Given the description of an element on the screen output the (x, y) to click on. 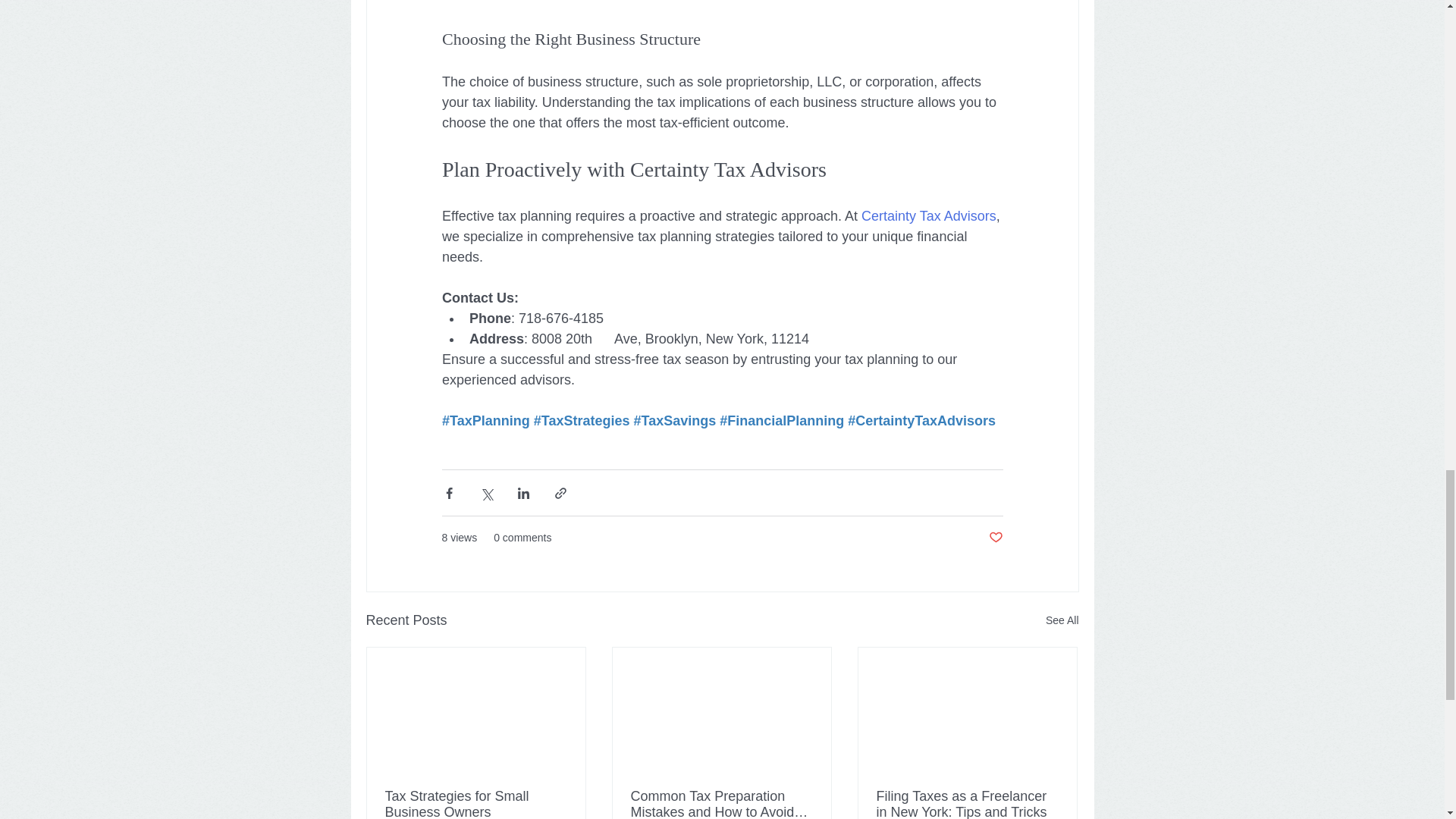
Tax Strategies for Small Business Owners (476, 803)
See All (1061, 620)
Post not marked as liked (995, 537)
Certainty Tax Advisors (928, 215)
